Given the description of an element on the screen output the (x, y) to click on. 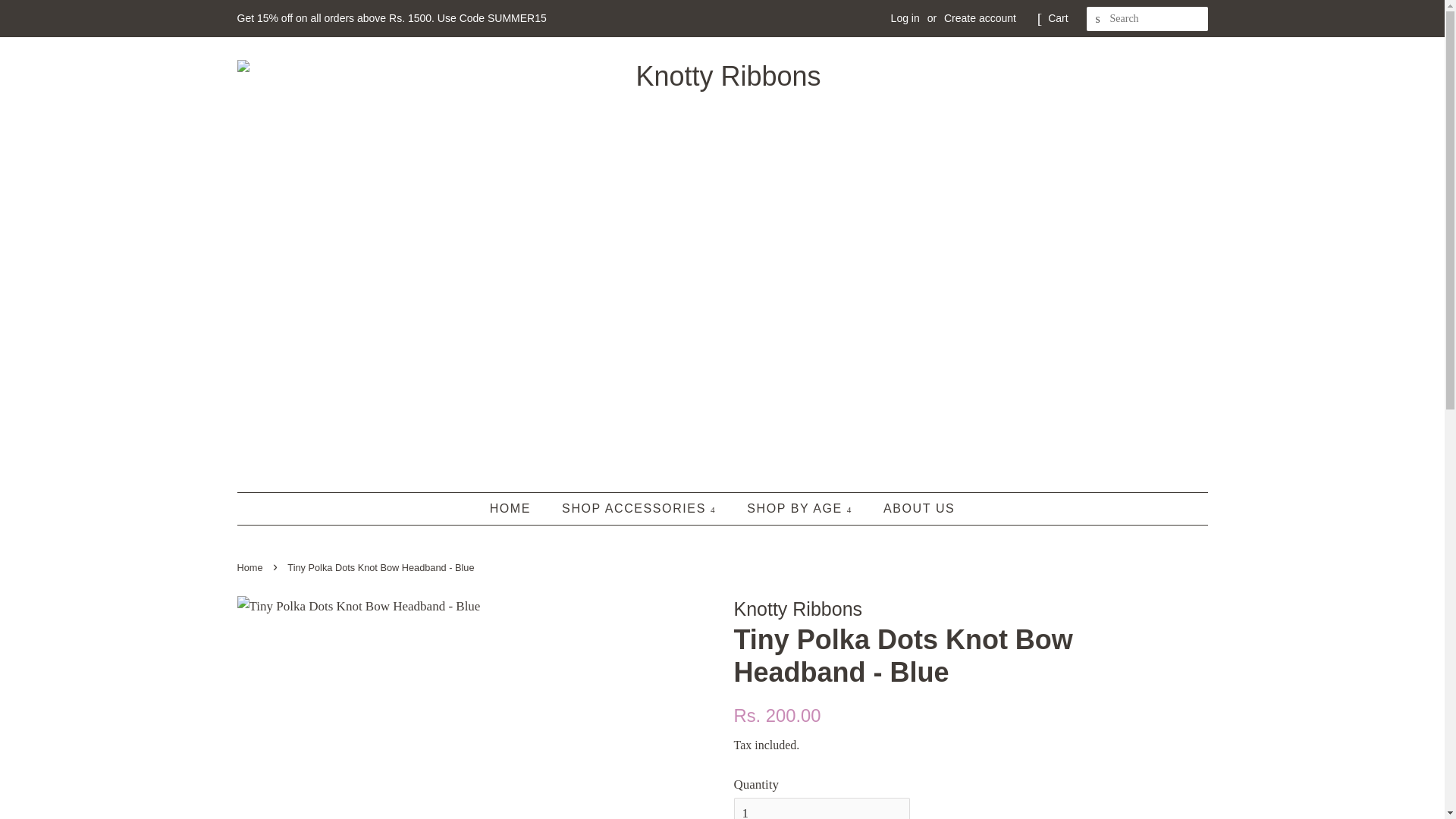
Cart (1057, 18)
Log in (905, 18)
Back to the frontpage (250, 567)
Create account (979, 18)
SEARCH (1097, 18)
1 (821, 808)
